Given the description of an element on the screen output the (x, y) to click on. 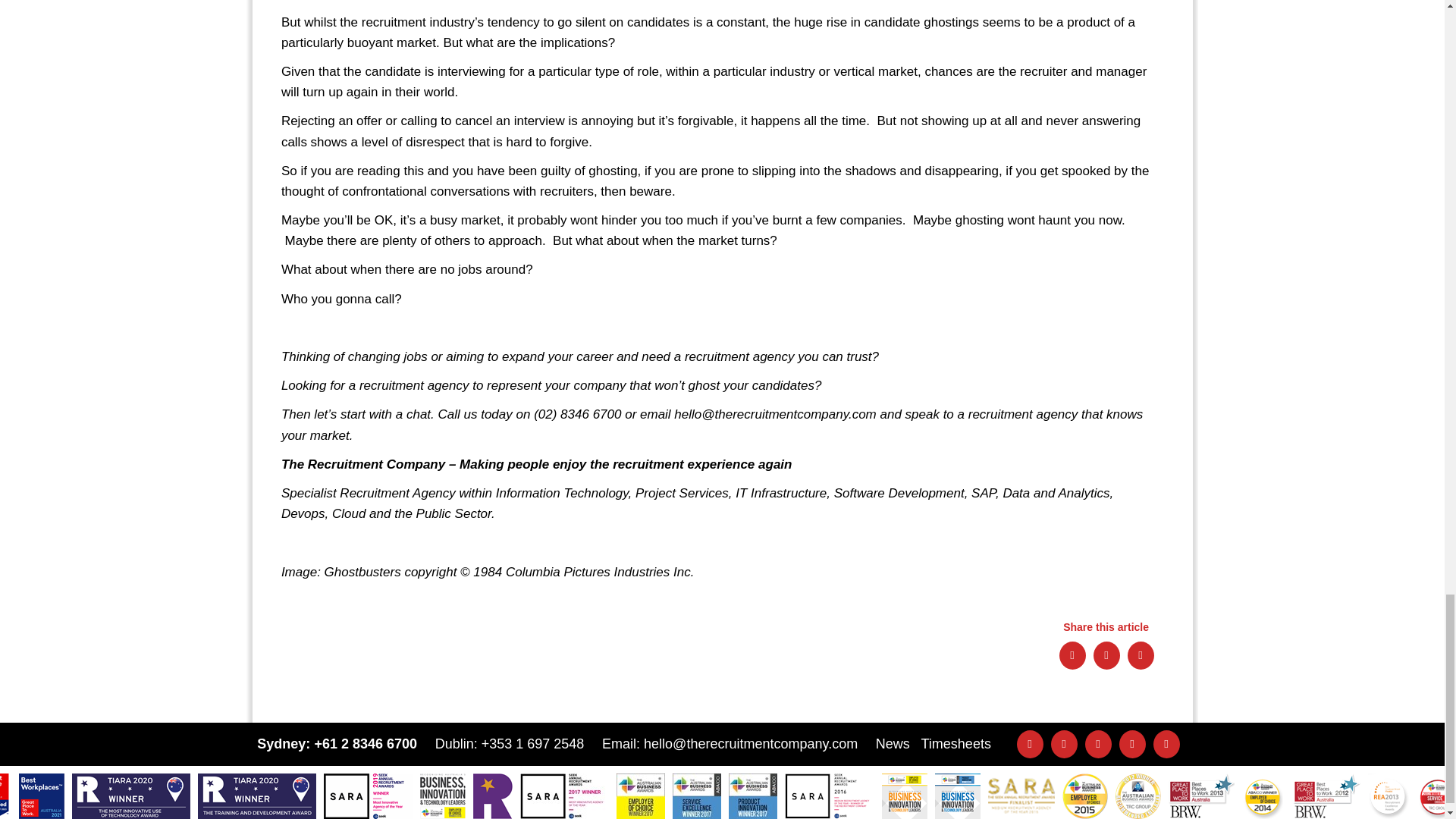
Timesheets (956, 743)
News (893, 743)
